Given the description of an element on the screen output the (x, y) to click on. 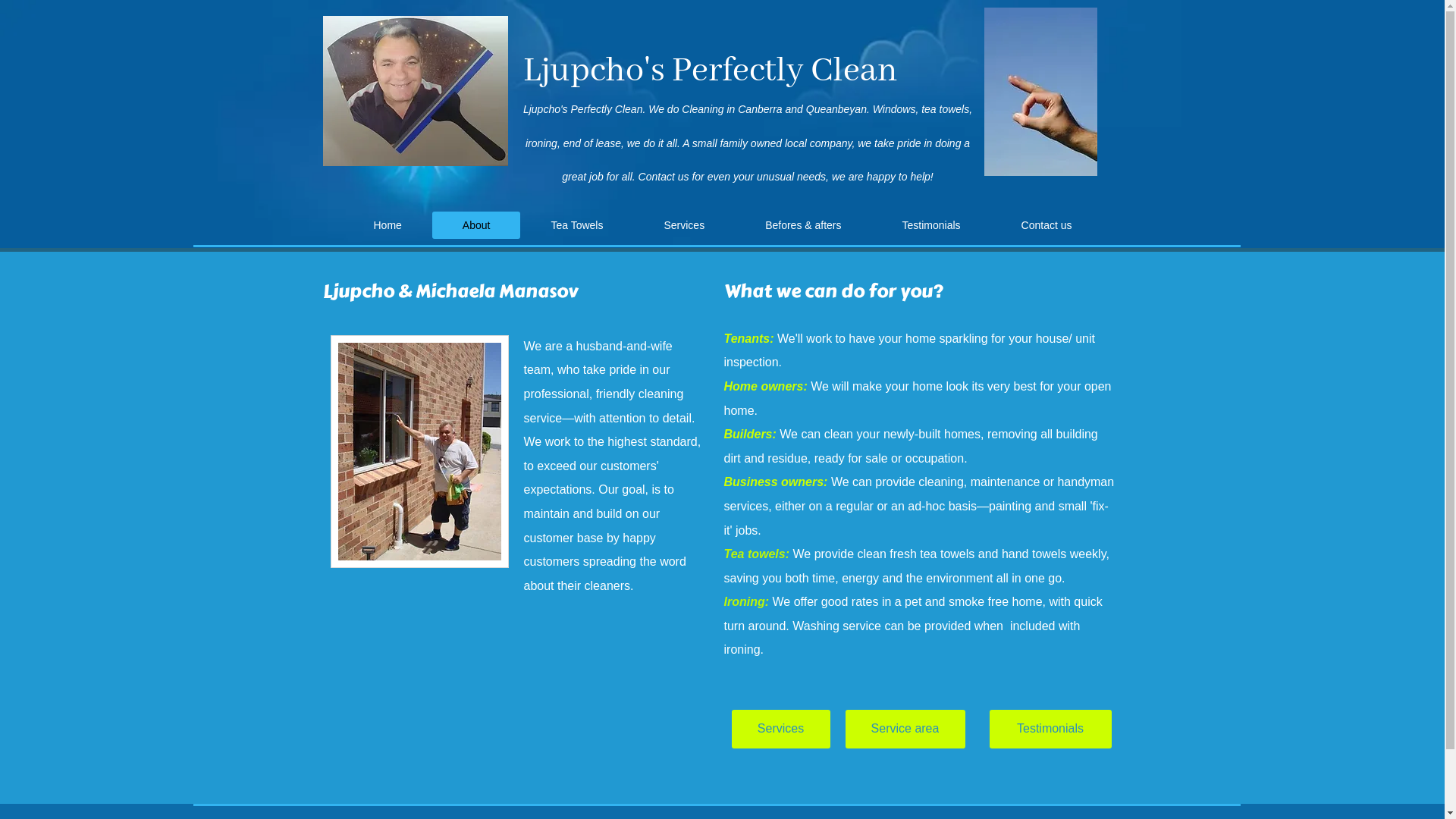
Tea Towels Element type: text (576, 224)
About Element type: text (476, 224)
Home Element type: text (386, 224)
Service area Element type: text (904, 728)
Testimonials Element type: text (931, 224)
Services Element type: text (683, 224)
Services Element type: text (780, 728)
Contact us Element type: text (1046, 224)
Testimonials Element type: text (1049, 728)
Befores & afters Element type: text (802, 224)
